Given the description of an element on the screen output the (x, y) to click on. 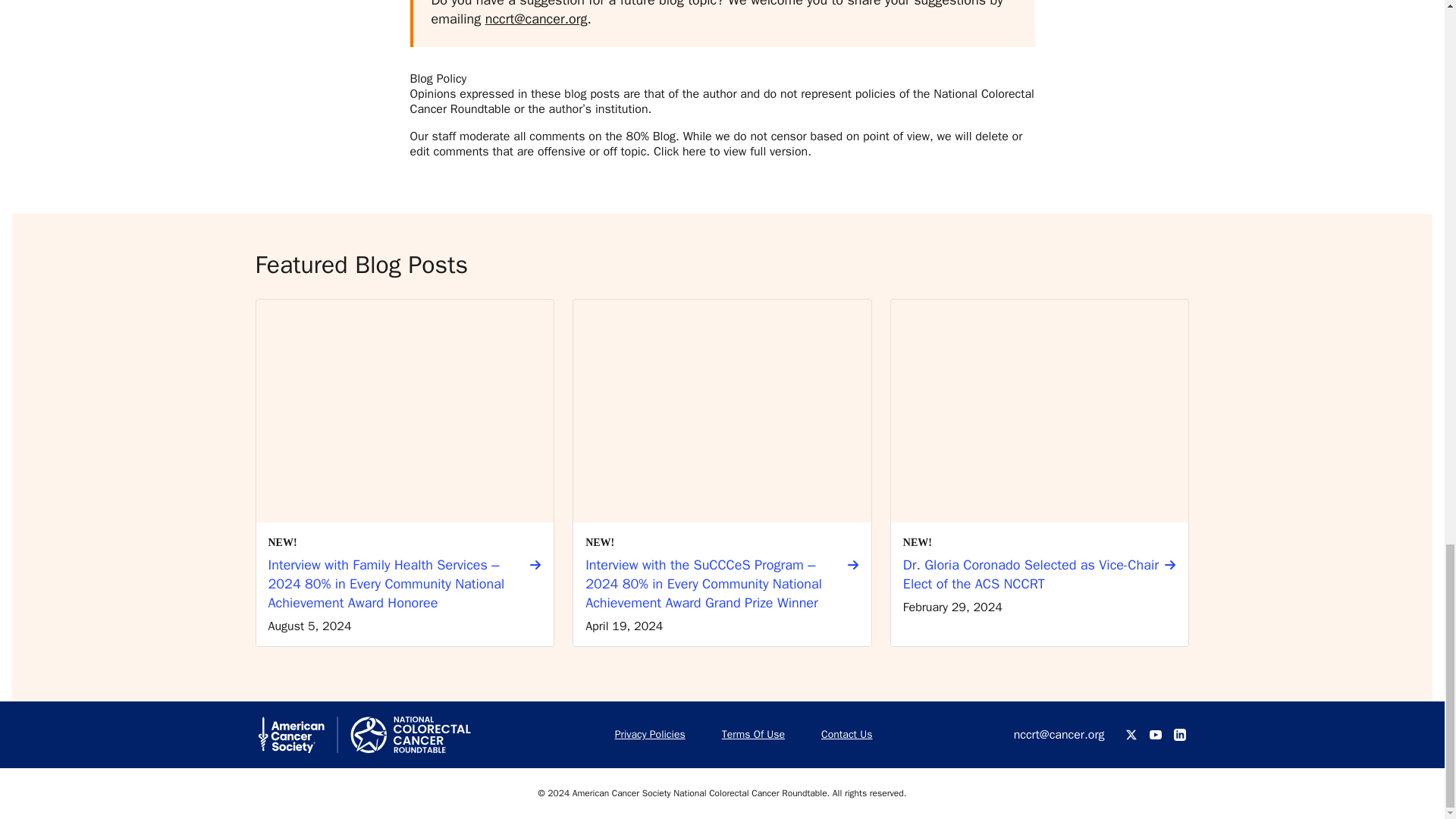
Visit us on YouTube (1155, 734)
Visit us on LinkedIn (1179, 734)
Visit us on X (1131, 734)
